Given the description of an element on the screen output the (x, y) to click on. 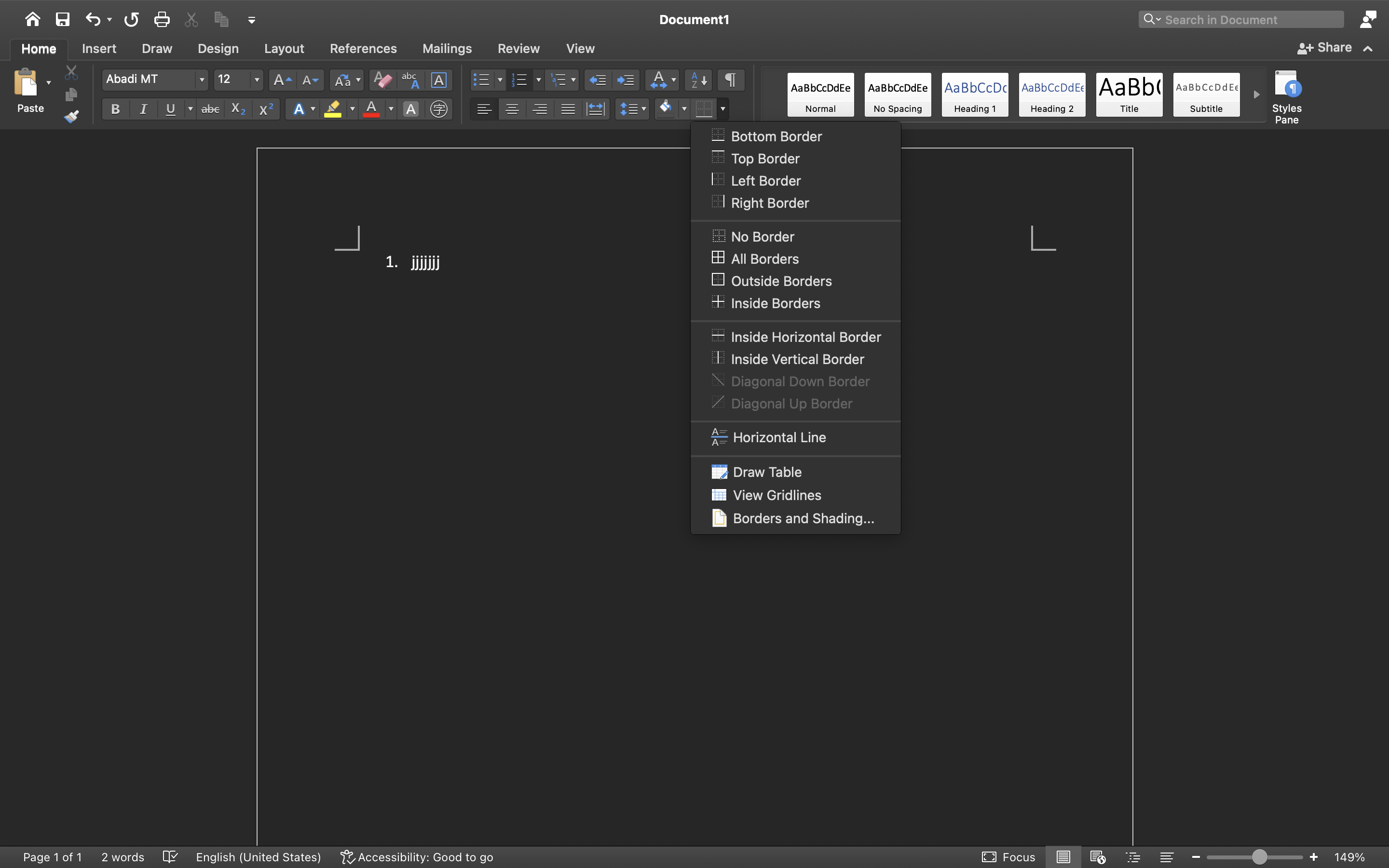
Document1 Element type: AXStaticText (693, 19)
1 Element type: AXRadioButton (38, 48)
Abadi MT Element type: AXComboBox (155, 79)
0 Element type: AXCheckBox (417, 856)
12 Element type: AXComboBox (238, 79)
